Given the description of an element on the screen output the (x, y) to click on. 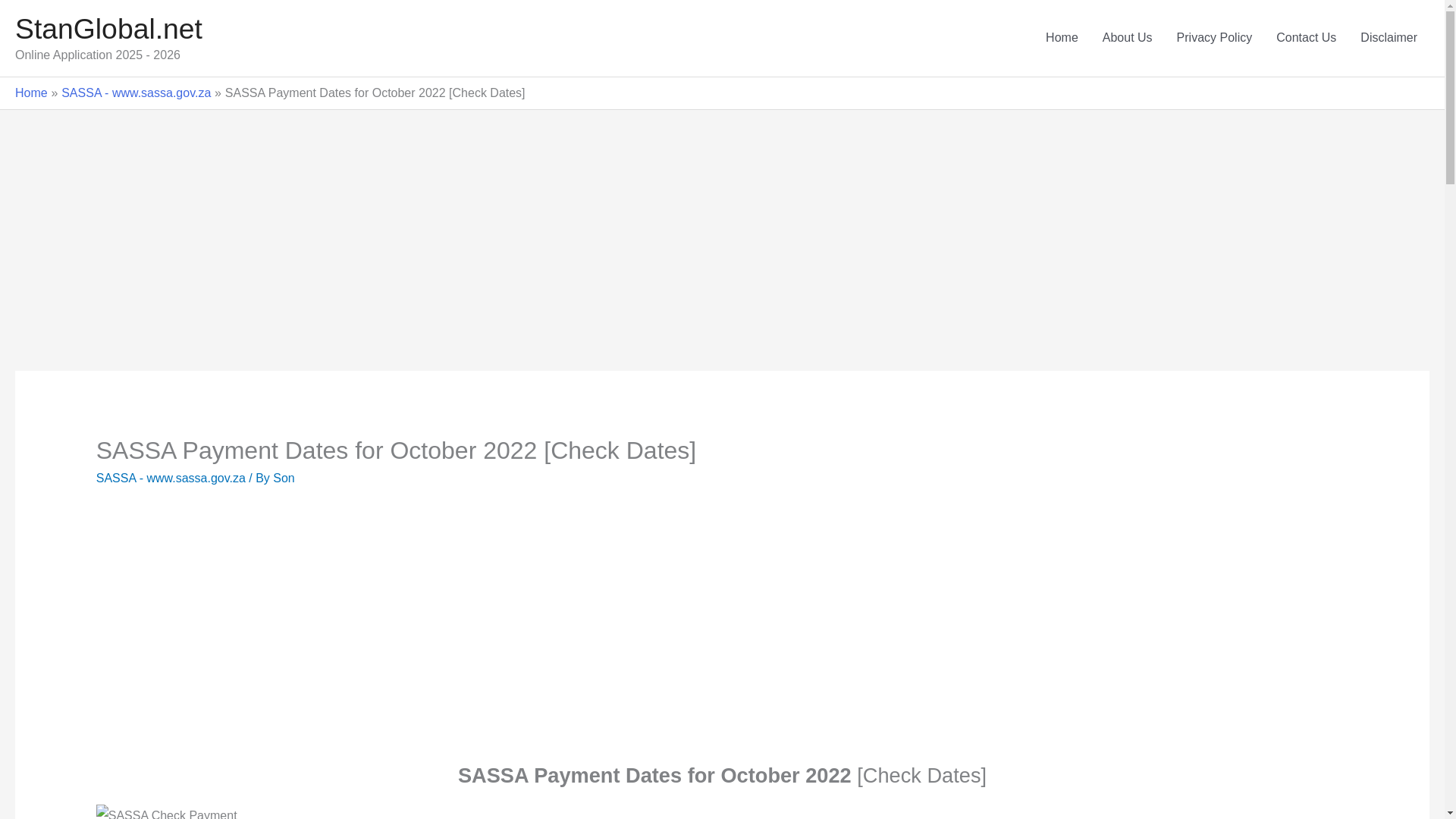
Privacy Policy (1214, 38)
View all posts by Son (283, 477)
Disclaimer (1388, 38)
Advertisement (338, 636)
Home (31, 92)
SASSA - www.sassa.gov.za (136, 92)
SASSA - www.sassa.gov.za (171, 477)
Son (283, 477)
Contact Us (1305, 38)
